Given the description of an element on the screen output the (x, y) to click on. 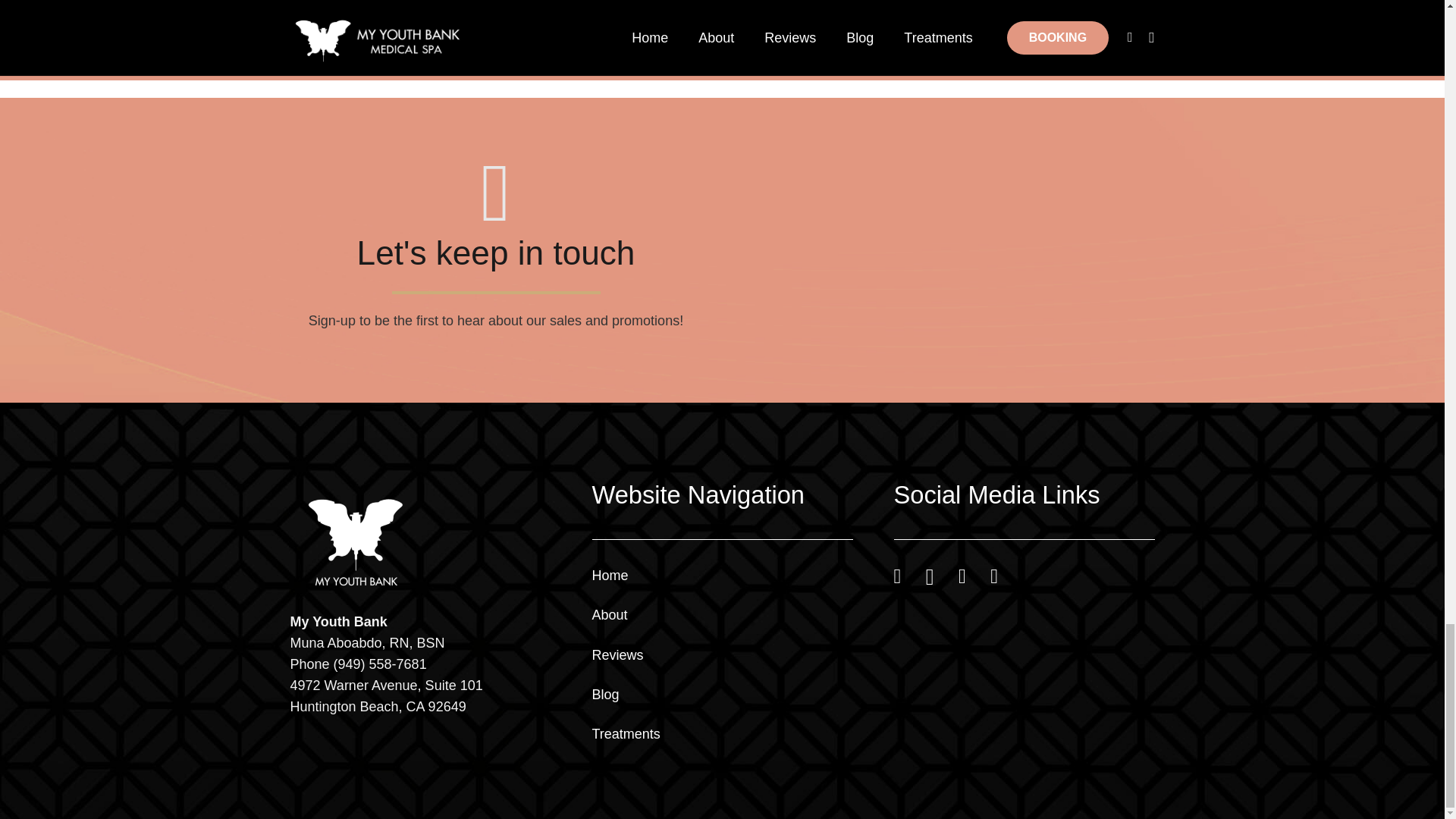
About (609, 614)
BOOK NOW (1050, 7)
Blog (604, 694)
Home (609, 575)
Treatments (625, 734)
Reviews (617, 654)
Booking (1050, 7)
